Given the description of an element on the screen output the (x, y) to click on. 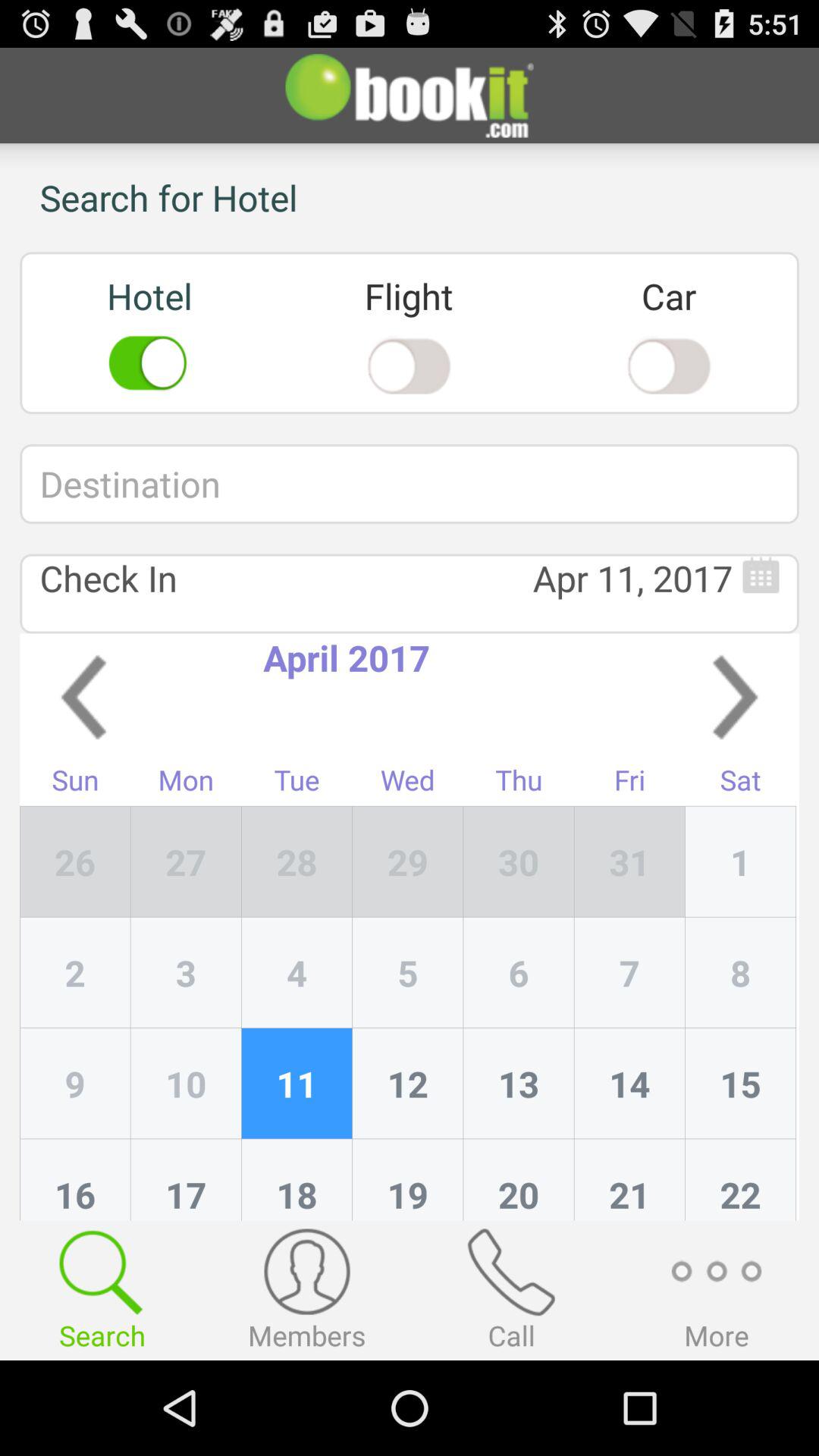
jump until 18 icon (296, 1179)
